Given the description of an element on the screen output the (x, y) to click on. 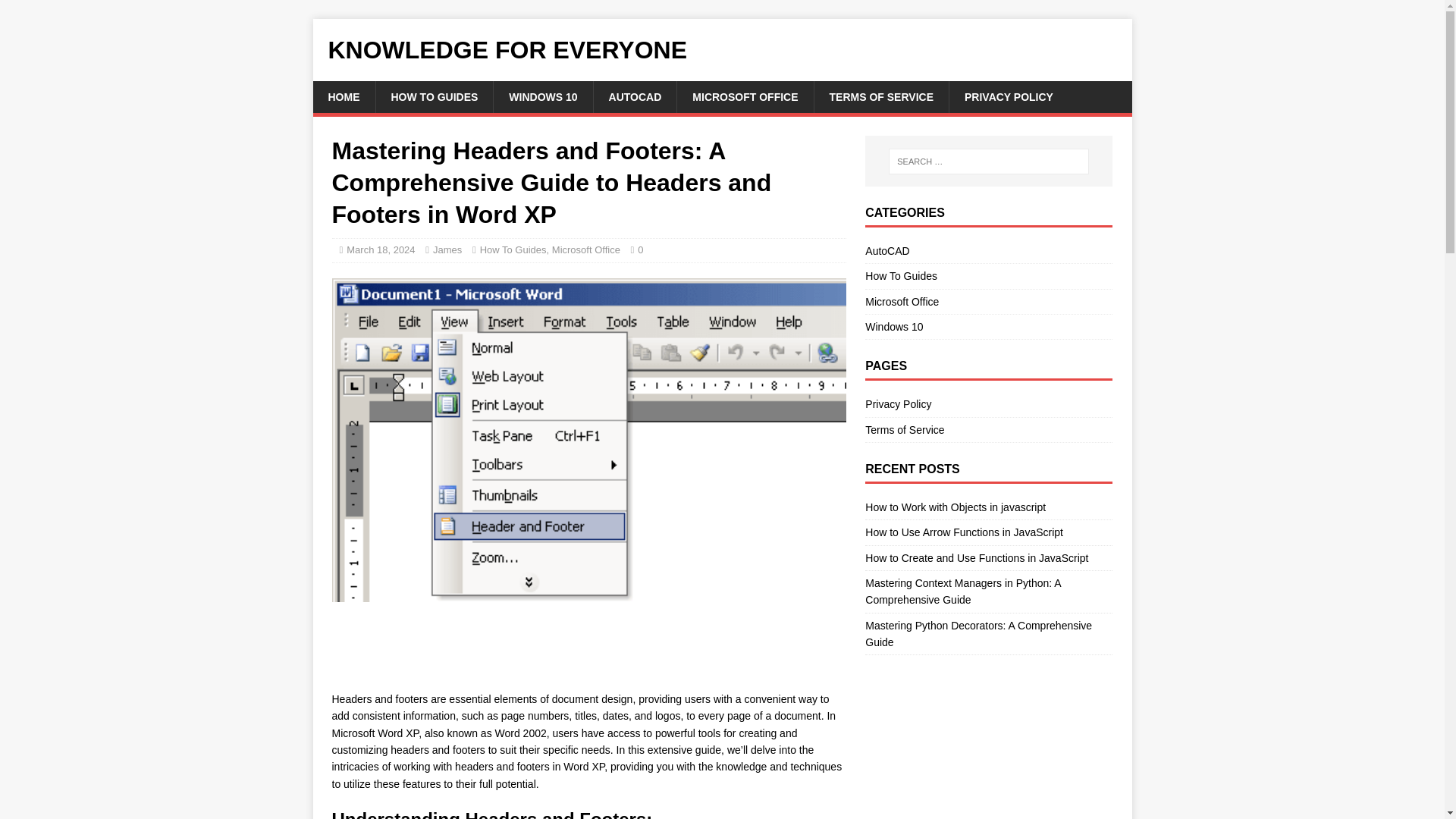
KNOWLEDGE FOR EVERYONE (721, 49)
Privacy Policy (988, 405)
TERMS OF SERVICE (881, 97)
Terms of Service (988, 430)
Knowledge For Everyone (721, 49)
How To Guides (513, 249)
James (446, 249)
How to Use Arrow Functions in JavaScript (963, 532)
Mastering Python Decorators: A Comprehensive Guide (978, 633)
